Given the description of an element on the screen output the (x, y) to click on. 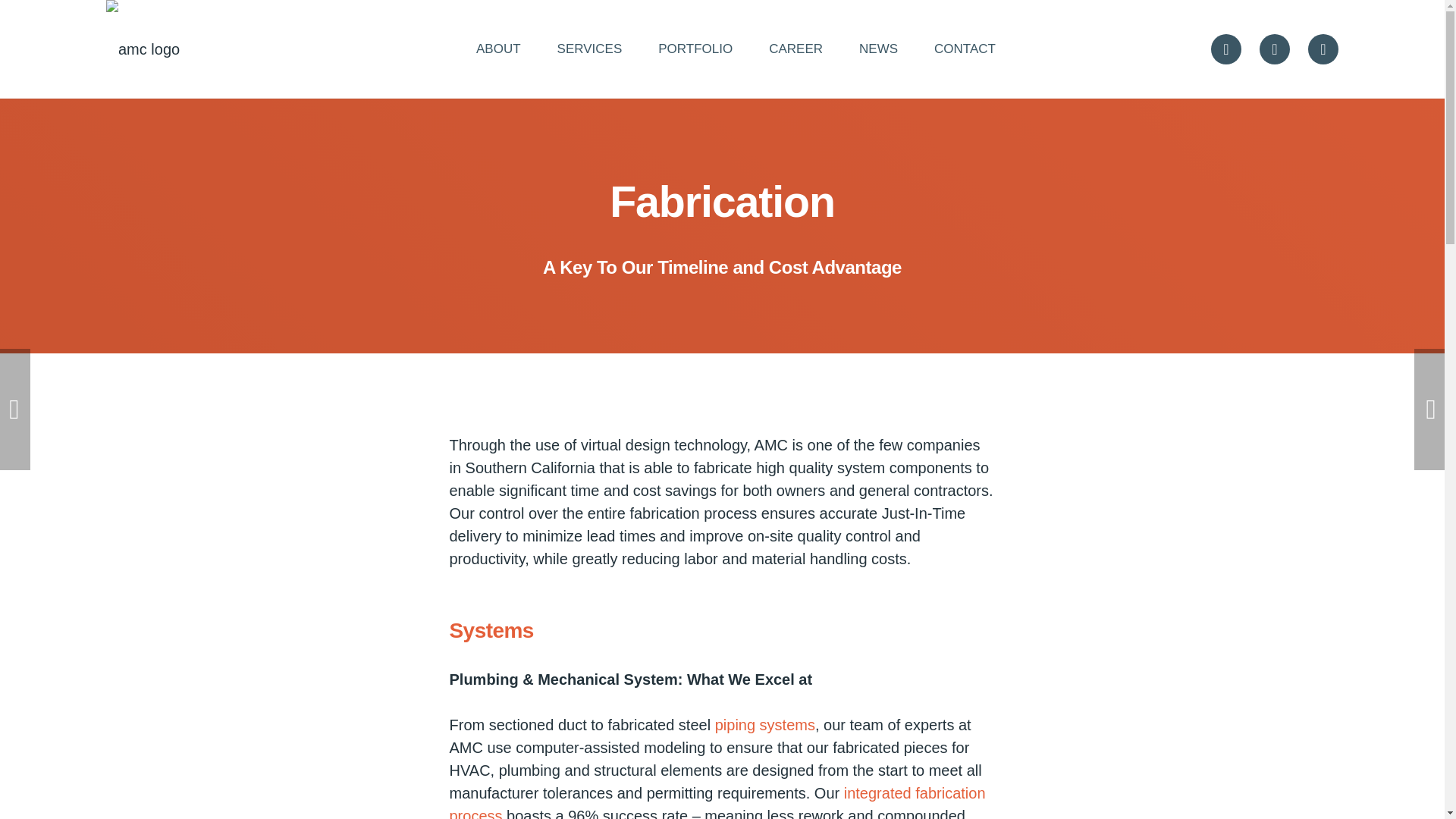
integrated fabrication process (716, 801)
PORTFOLIO (695, 49)
Facebook (1274, 49)
CAREER (796, 49)
piping systems (764, 724)
LinkedIn (1322, 49)
Twitter (1226, 49)
CONTACT (964, 49)
SERVICES (589, 49)
